Given the description of an element on the screen output the (x, y) to click on. 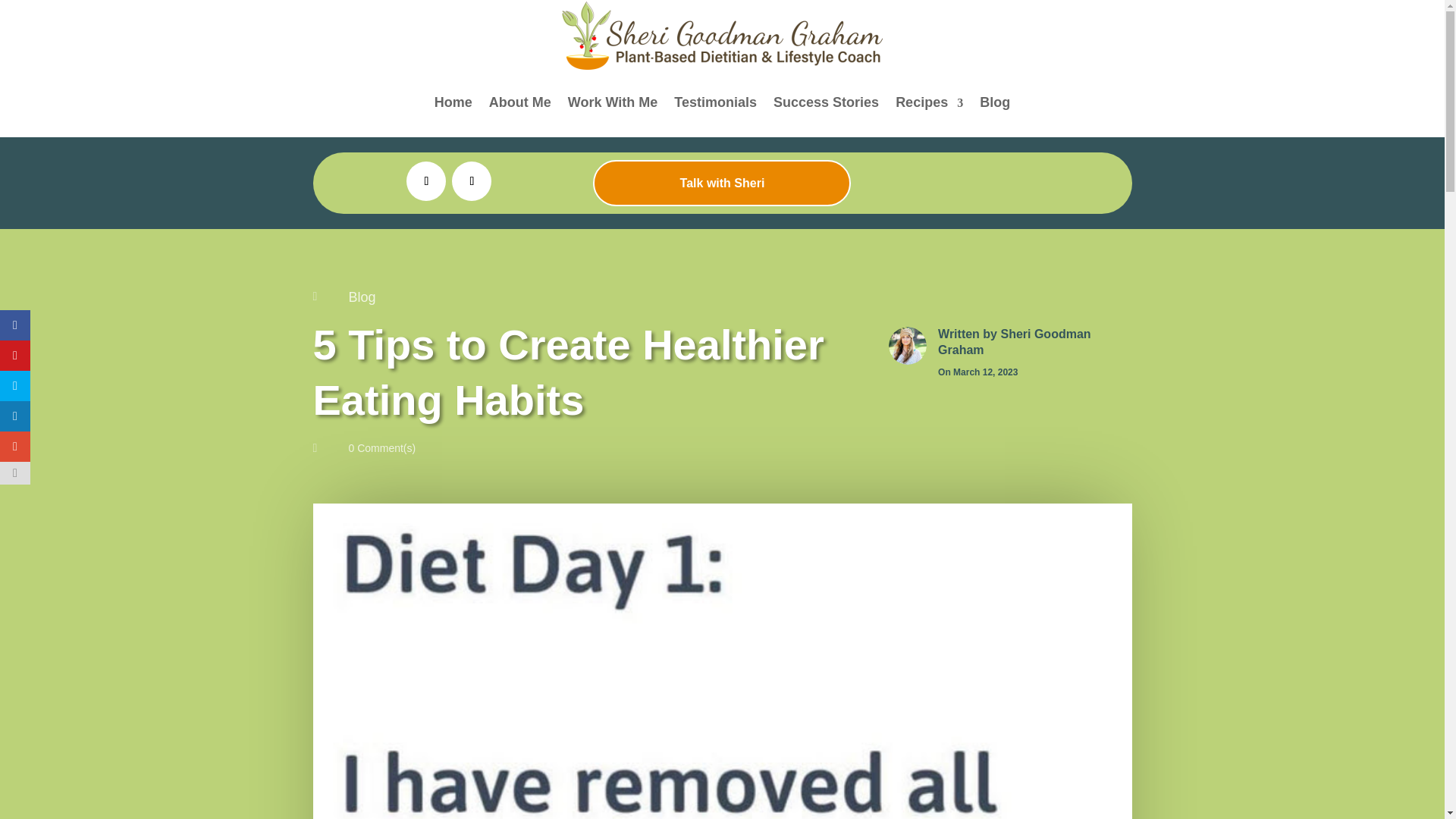
Sheri Goodman Graham (1013, 341)
Follow on Facebook (425, 180)
Blog (362, 296)
Recipes (928, 102)
Follow on Instagram (471, 180)
Testimonials (715, 102)
Success Stories (826, 102)
About Me (520, 102)
Talk with Sheri (721, 182)
